Given the description of an element on the screen output the (x, y) to click on. 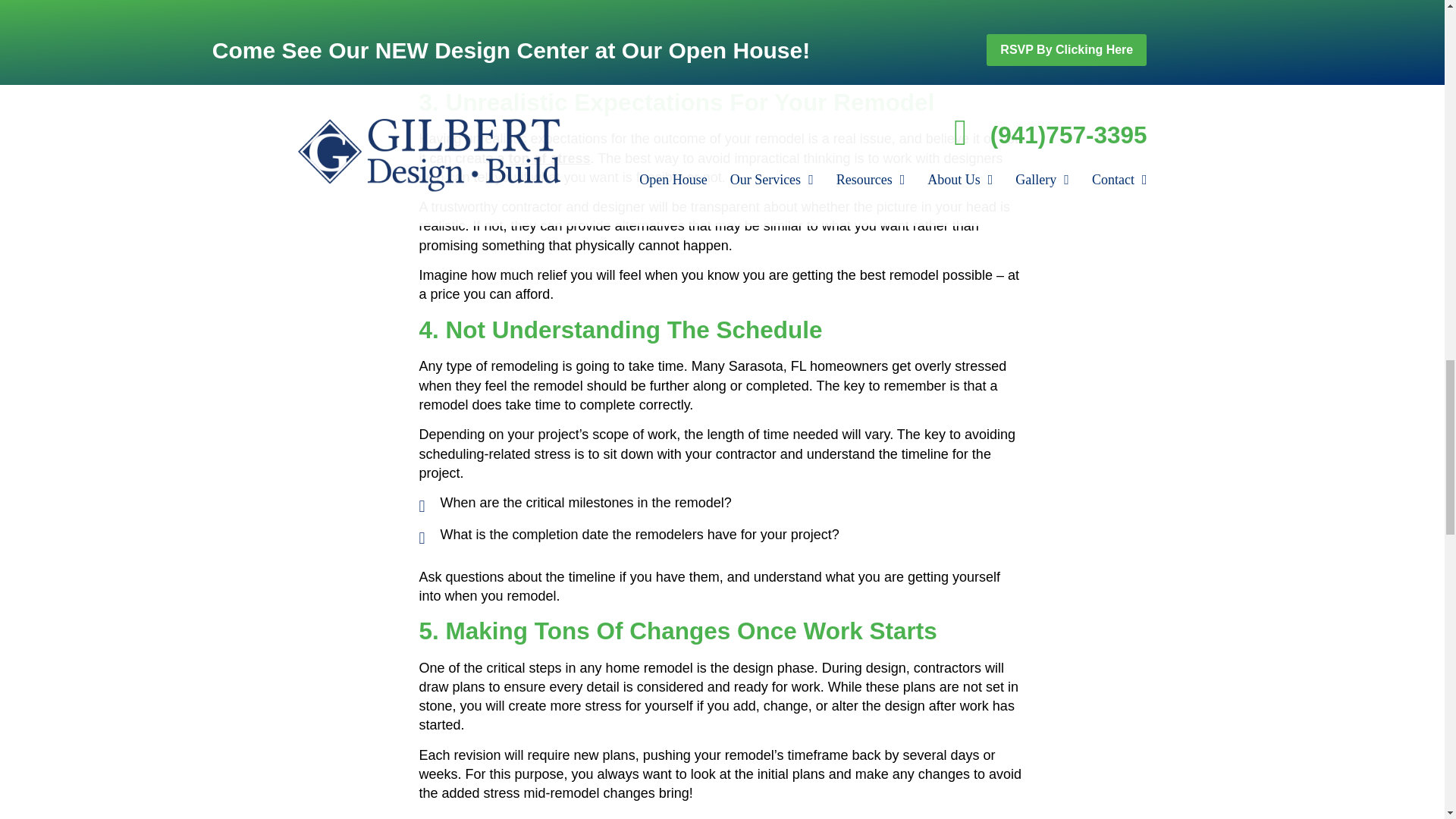
ton of stress (549, 157)
